Given the description of an element on the screen output the (x, y) to click on. 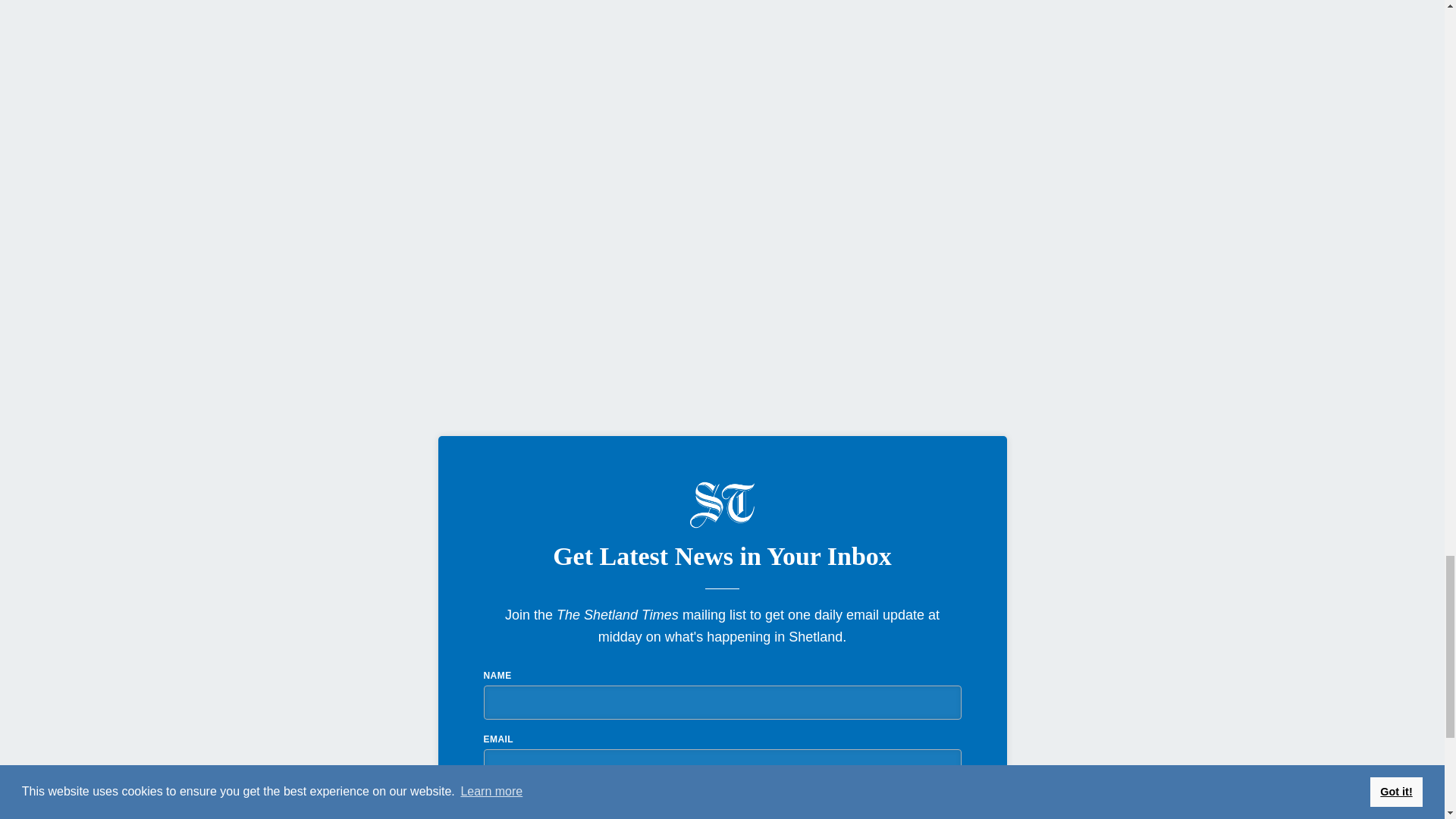
3rd party ad content (266, 92)
3rd party ad content (266, 303)
